Given the description of an element on the screen output the (x, y) to click on. 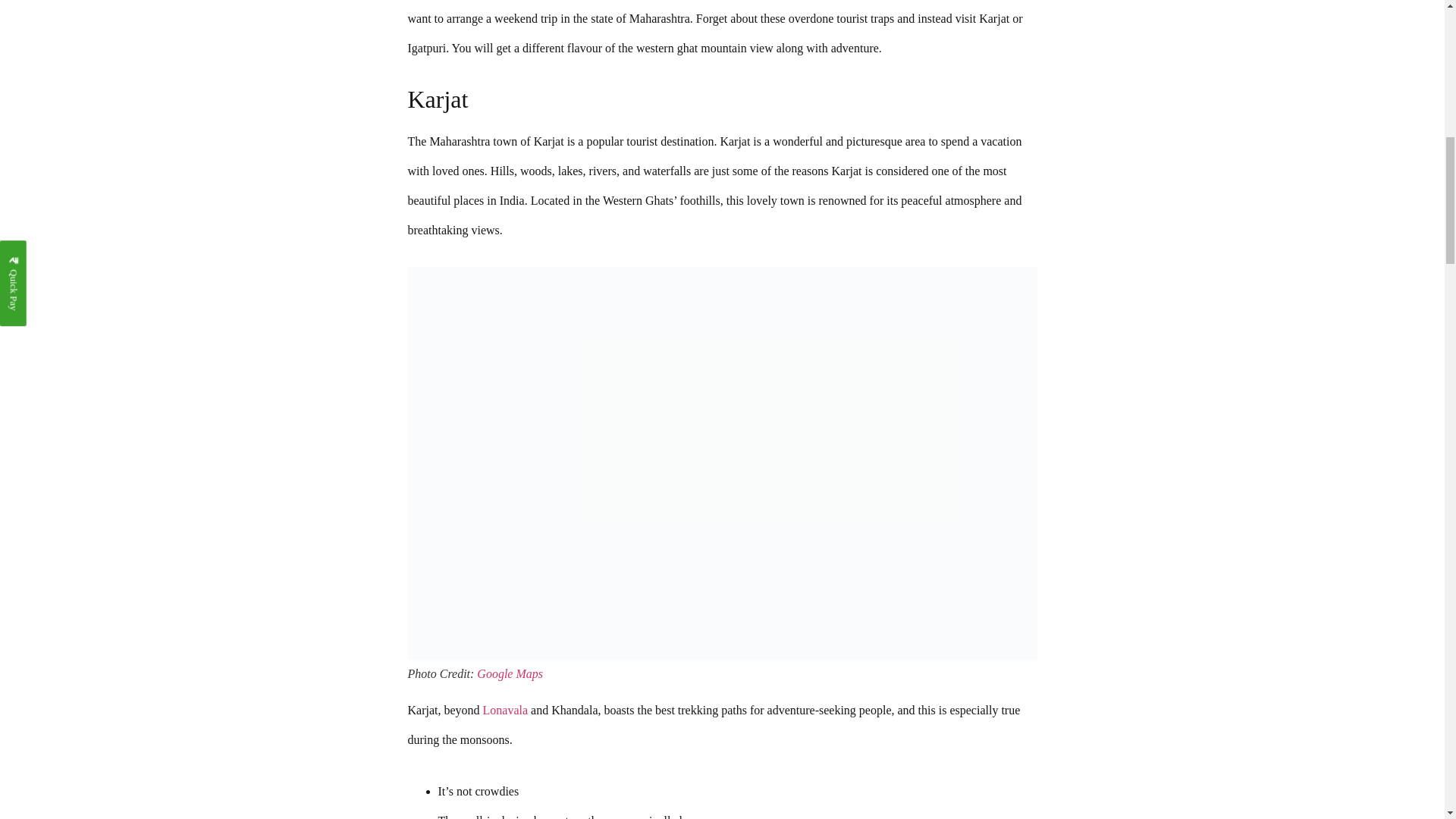
Lonavala (507, 709)
Google Maps (510, 673)
